Given the description of an element on the screen output the (x, y) to click on. 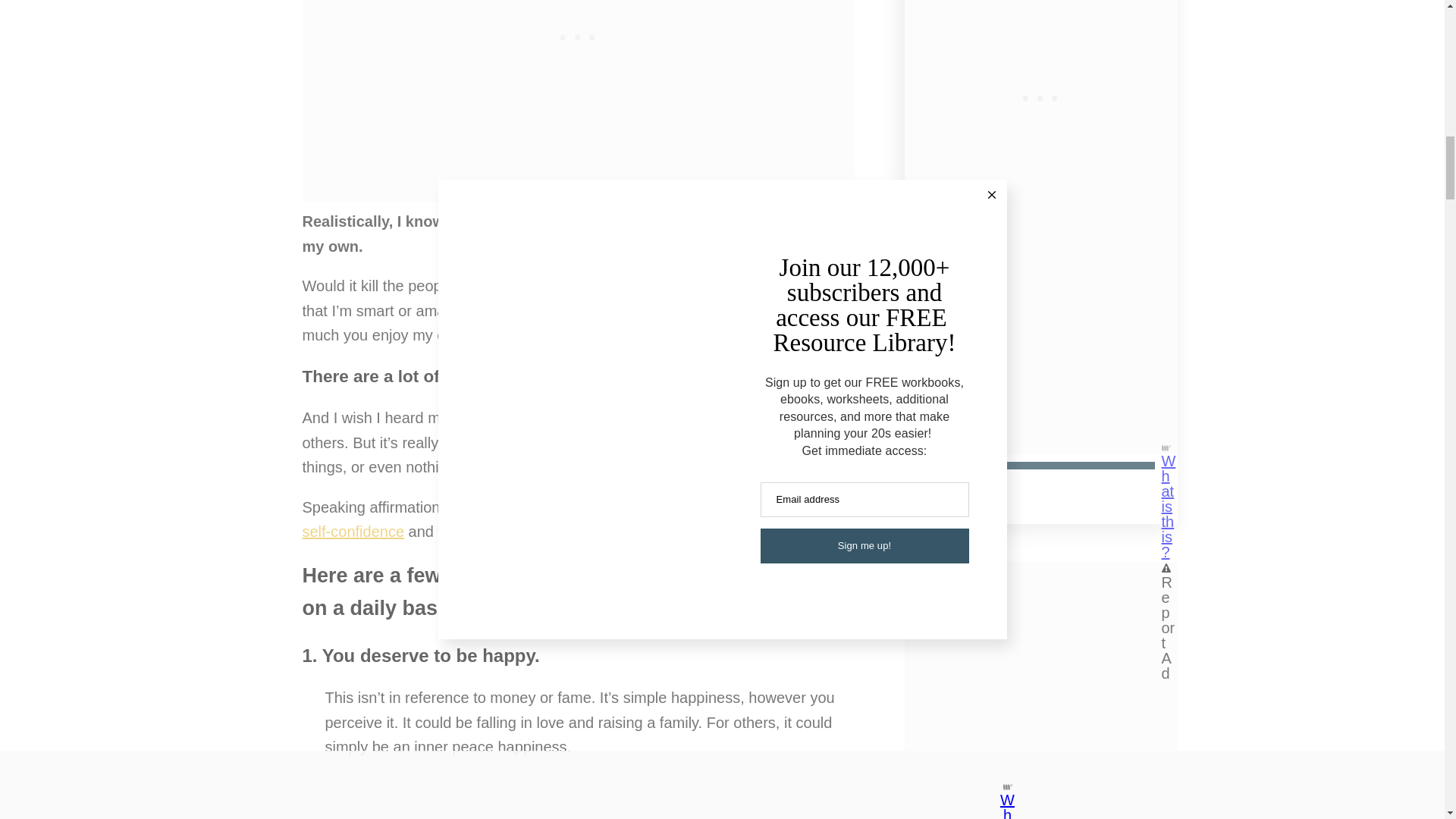
self-confidence (352, 531)
3rd party ad content (1040, 94)
3rd party ad content (577, 796)
affirmations (795, 417)
